Given the description of an element on the screen output the (x, y) to click on. 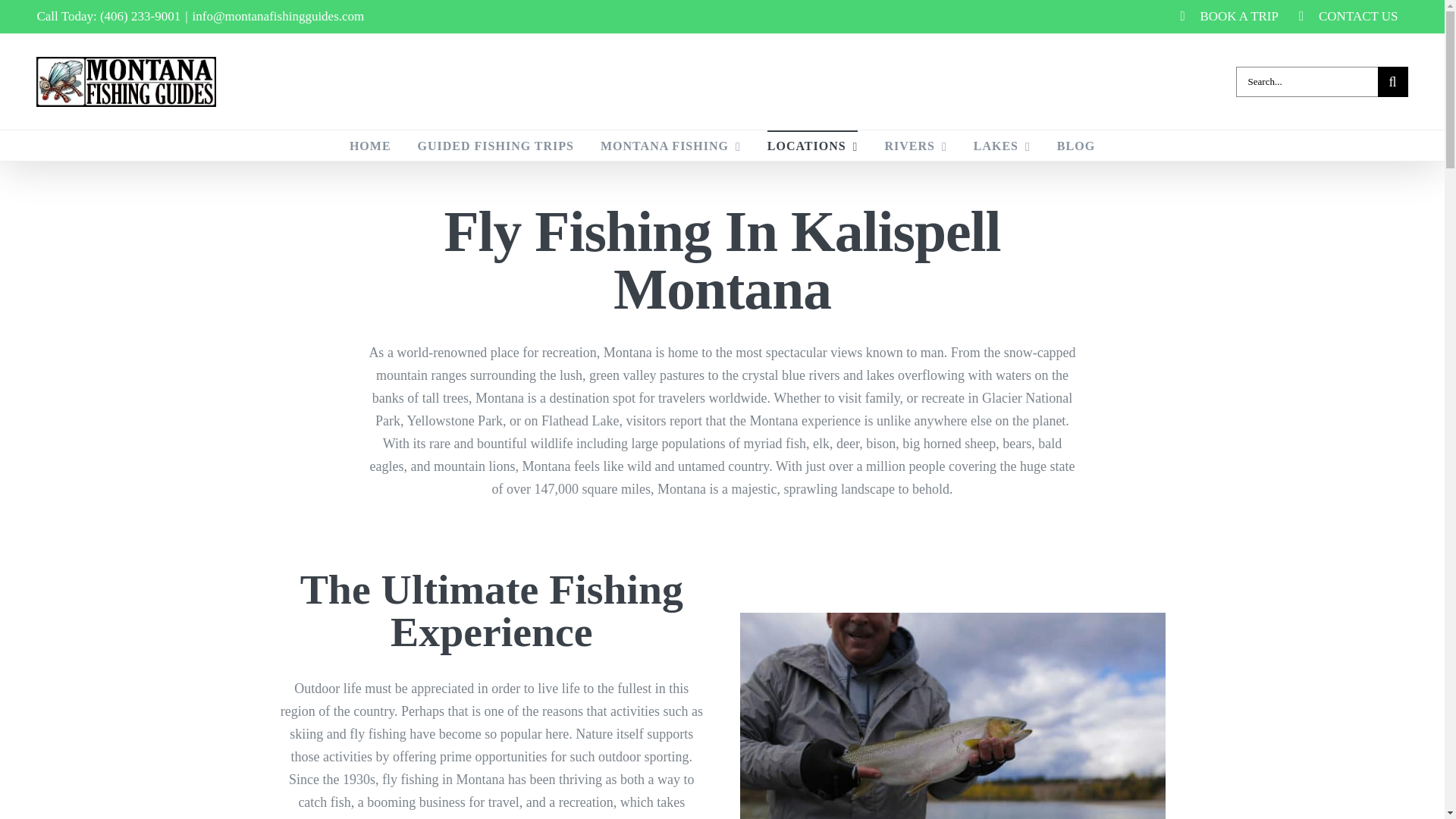
BLOG (1075, 145)
HOME (370, 145)
BOOK A TRIP (1229, 16)
GUIDED FISHING TRIPS (495, 145)
MONTANA FISHING (670, 145)
RIVERS (914, 145)
CONTACT US (1347, 16)
LAKES (1002, 145)
LOCATIONS (813, 145)
